Given the description of an element on the screen output the (x, y) to click on. 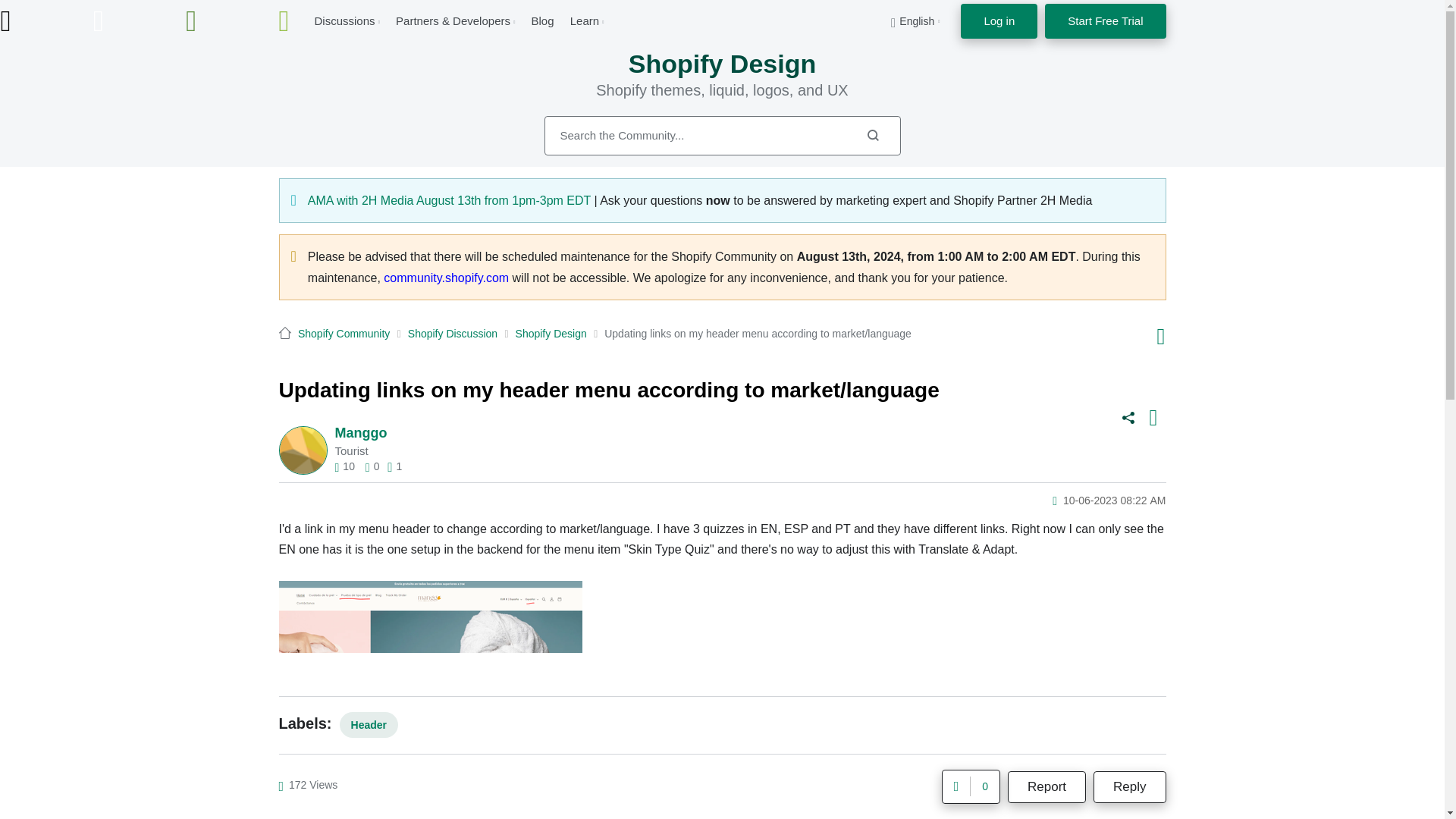
Search (872, 135)
Search (722, 135)
Discussions (344, 20)
Search (872, 135)
